Given the description of an element on the screen output the (x, y) to click on. 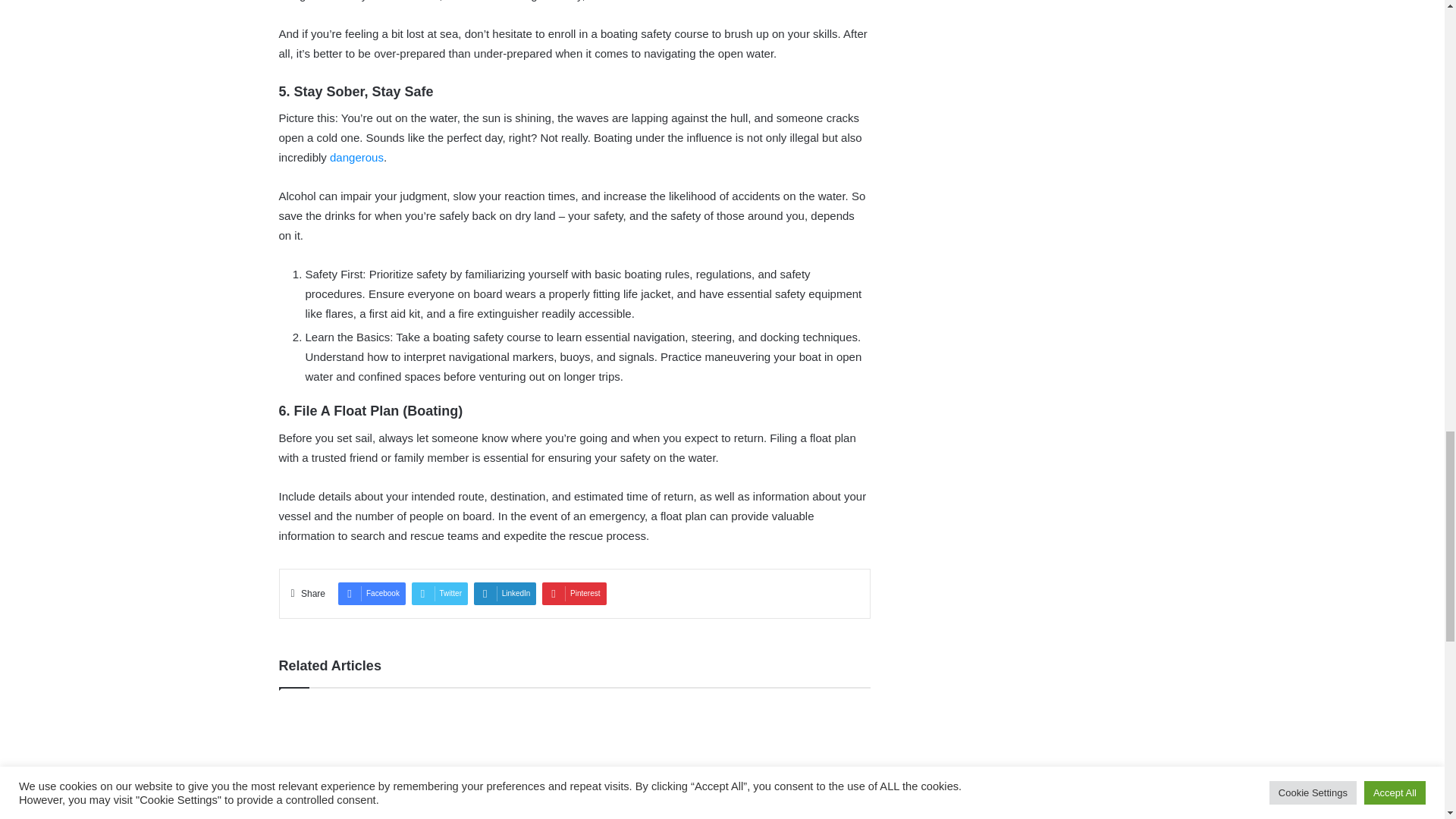
dangerous (357, 156)
Facebook (371, 593)
Twitter (439, 593)
